Given the description of an element on the screen output the (x, y) to click on. 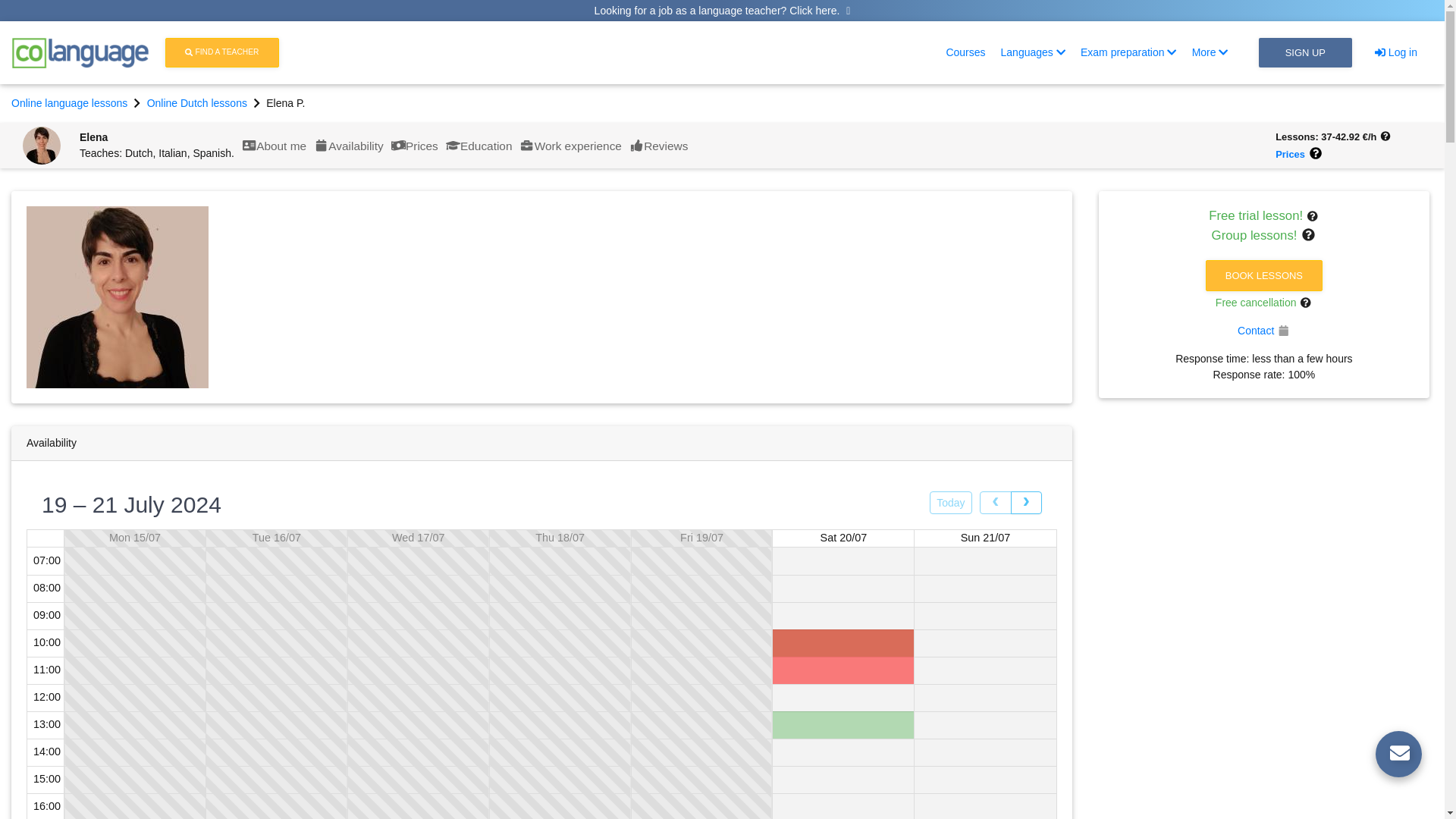
Reviews (658, 145)
About me (273, 145)
Work experience (570, 145)
Availability (348, 145)
Languages (1033, 52)
Education (478, 145)
Prices (414, 145)
About me (156, 145)
Reviews (274, 145)
Courses (657, 145)
Availability (964, 51)
Education (349, 145)
Prices (479, 145)
